Given the description of an element on the screen output the (x, y) to click on. 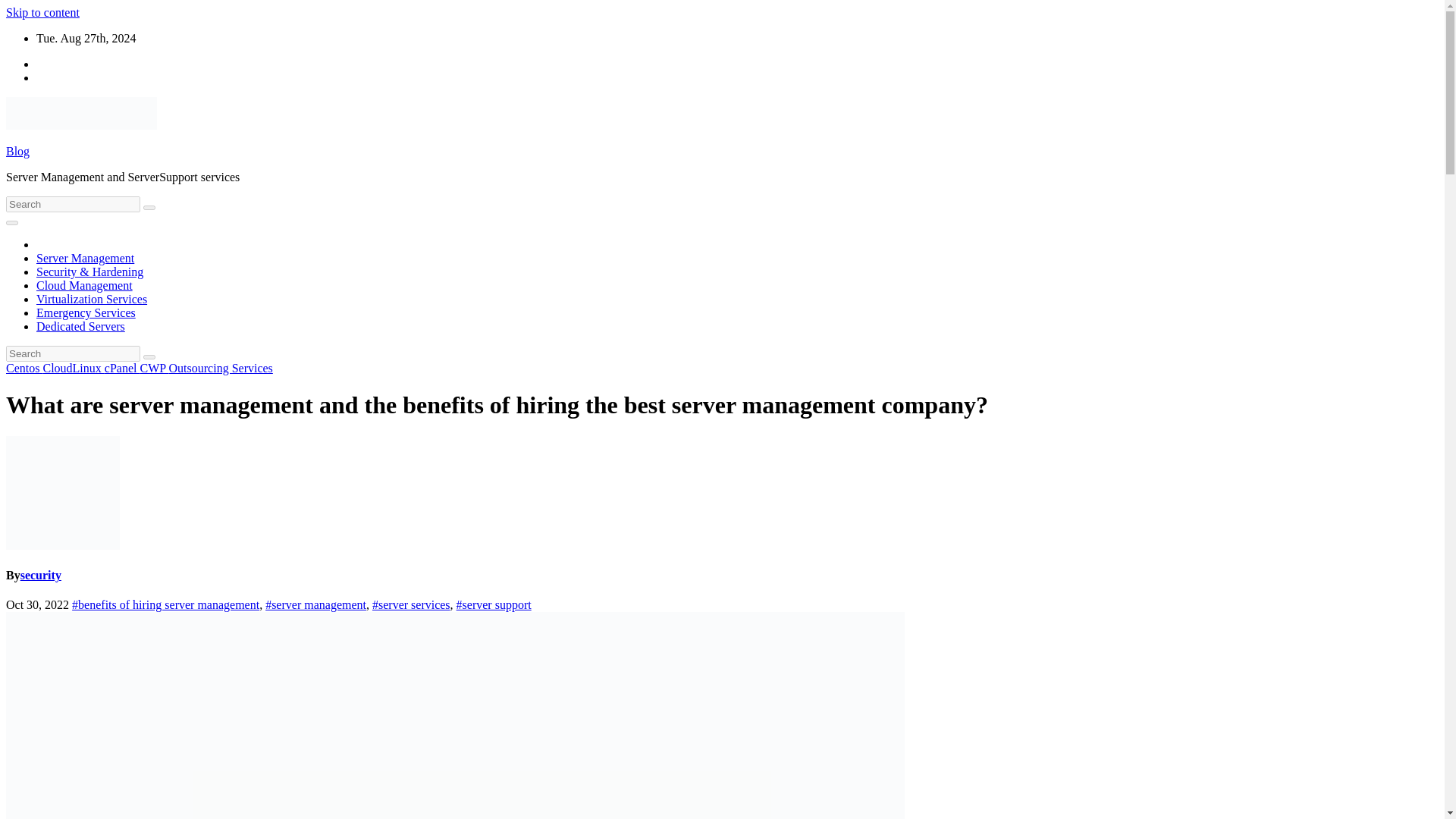
cPanel (121, 367)
Dedicated Servers (80, 326)
CWP (153, 367)
Centos (23, 367)
Emergency Services (85, 312)
Cloud Management (84, 285)
Virtualization Services (91, 298)
Dedicated Servers (80, 326)
Server Management (84, 257)
